Given the description of an element on the screen output the (x, y) to click on. 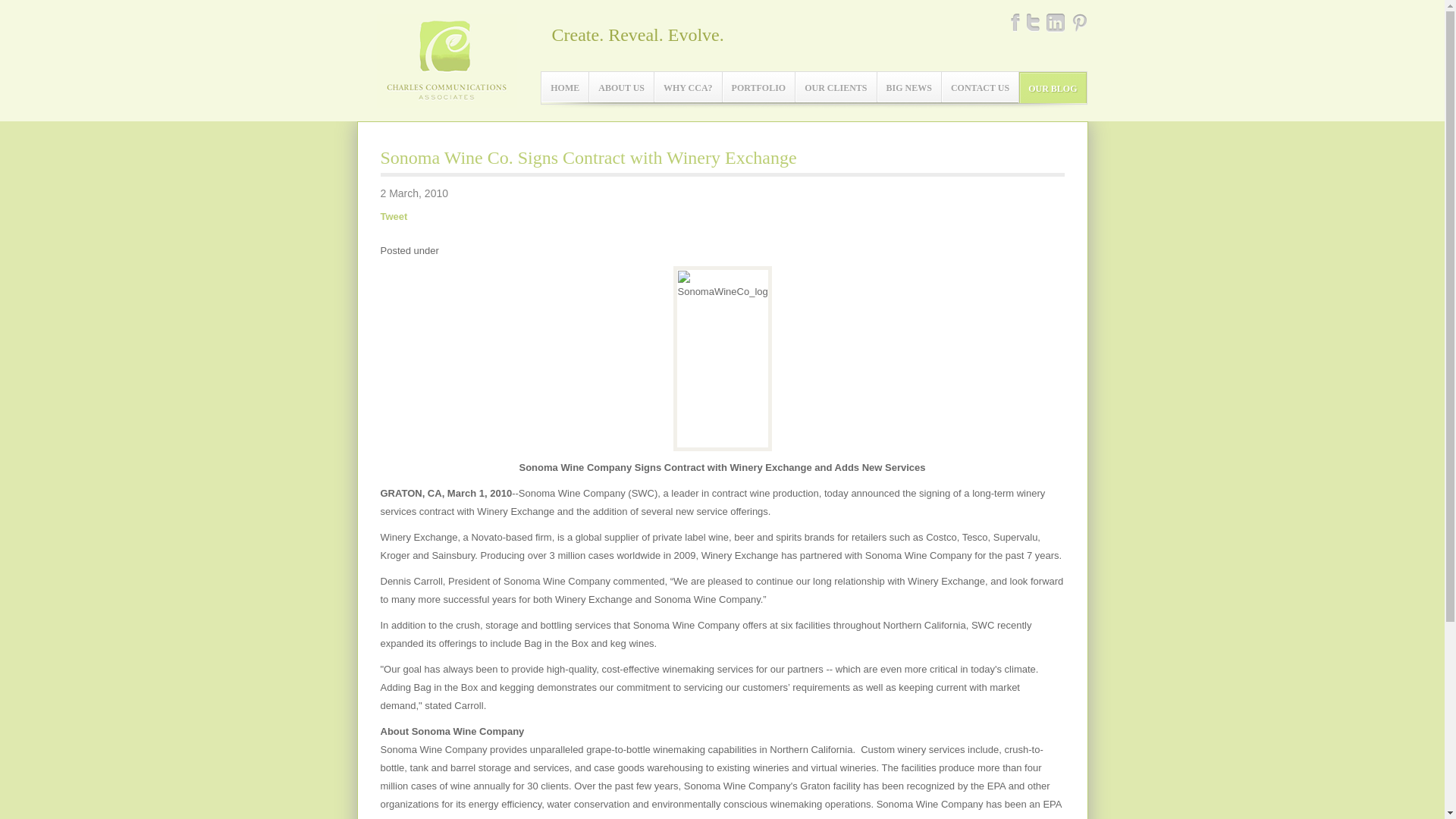
PORTFOLIO (758, 87)
HOME (564, 87)
CONTACT US (979, 87)
OUR CLIENTS (835, 87)
OUR BLOG (1052, 87)
Tweet (393, 216)
BIG NEWS (908, 87)
WHY CCA? (687, 87)
ABOUT US (621, 87)
